Given the description of an element on the screen output the (x, y) to click on. 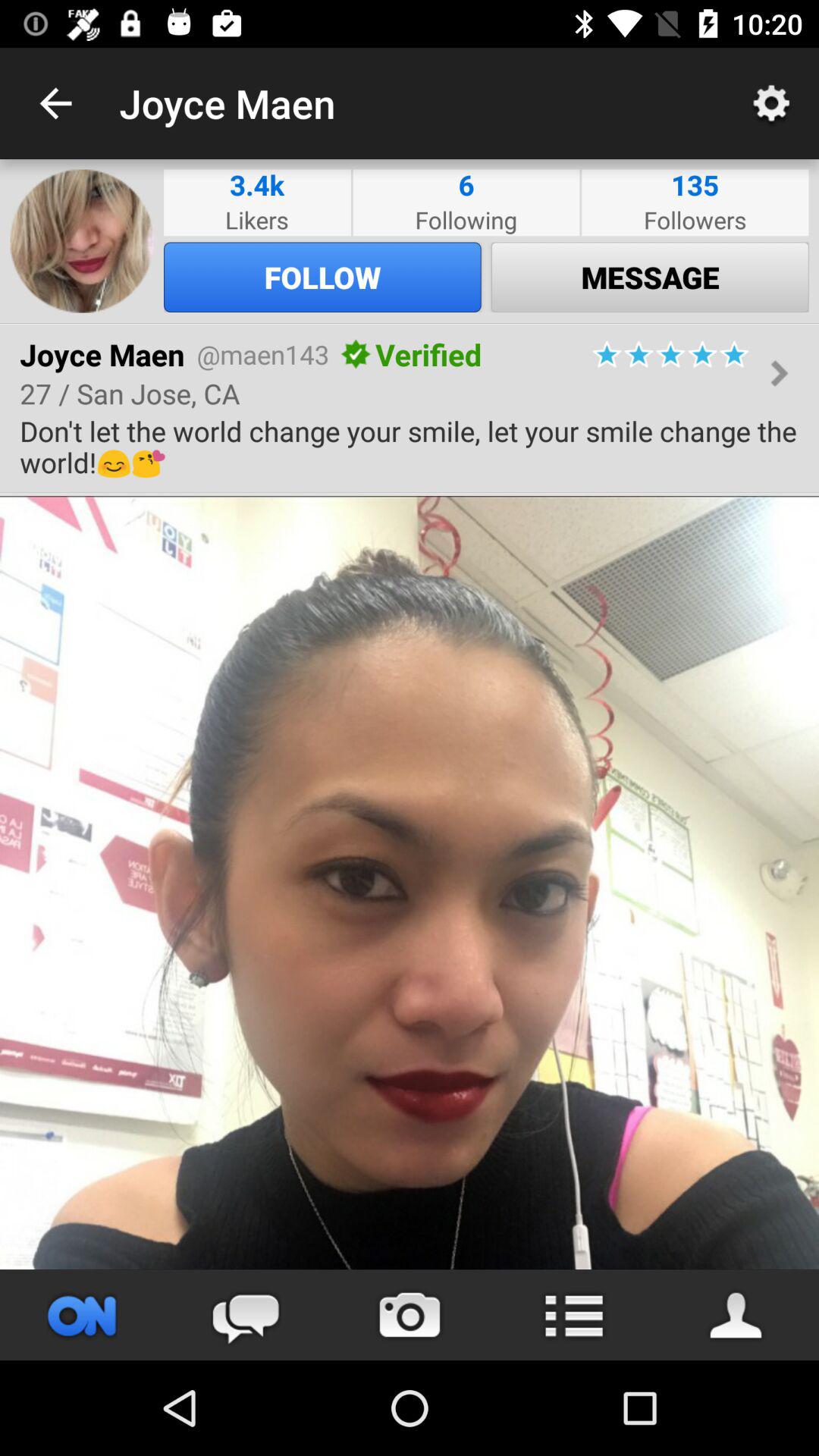
take a photo (409, 1315)
